Given the description of an element on the screen output the (x, y) to click on. 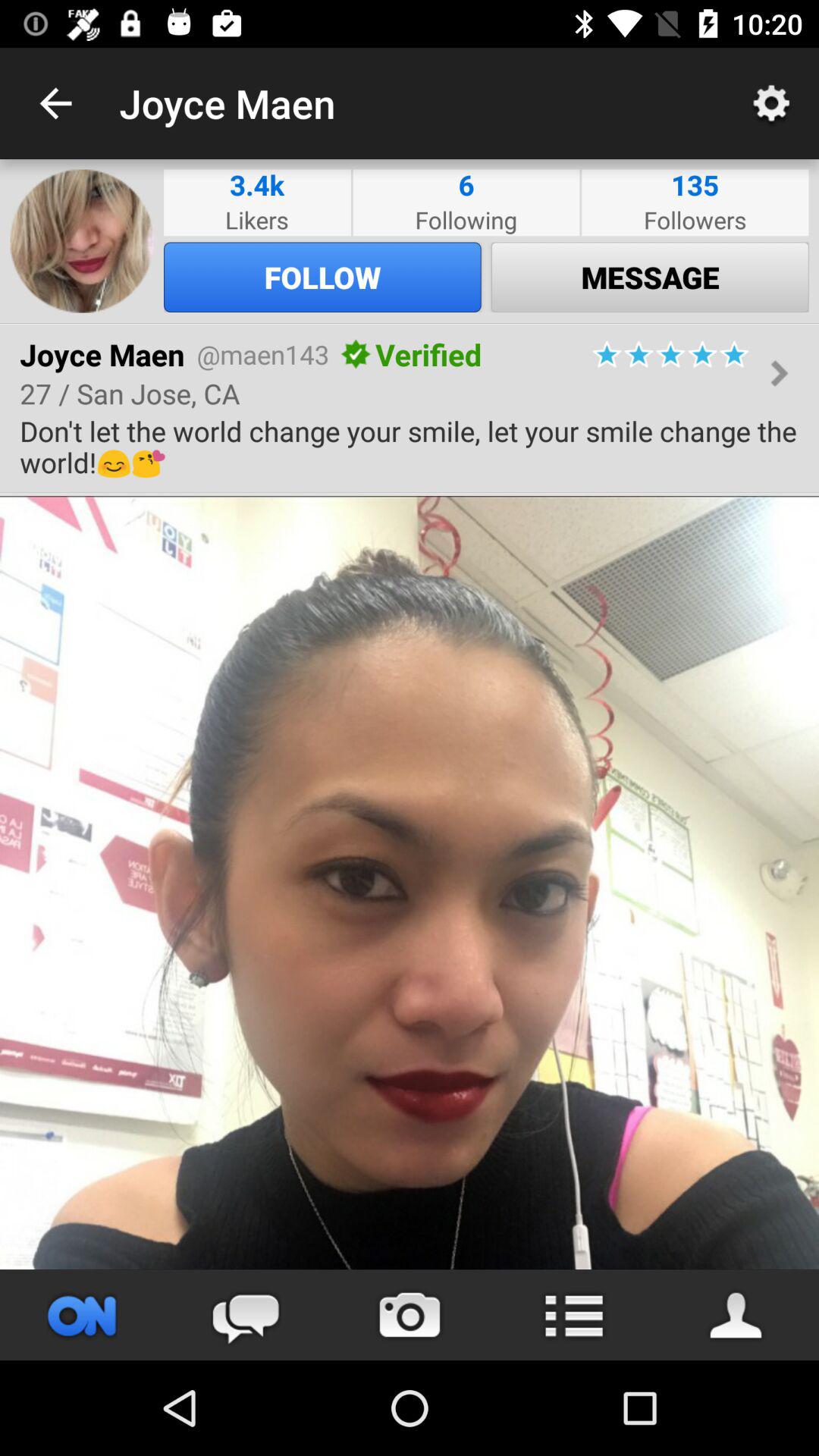
take a photo (409, 1315)
